Given the description of an element on the screen output the (x, y) to click on. 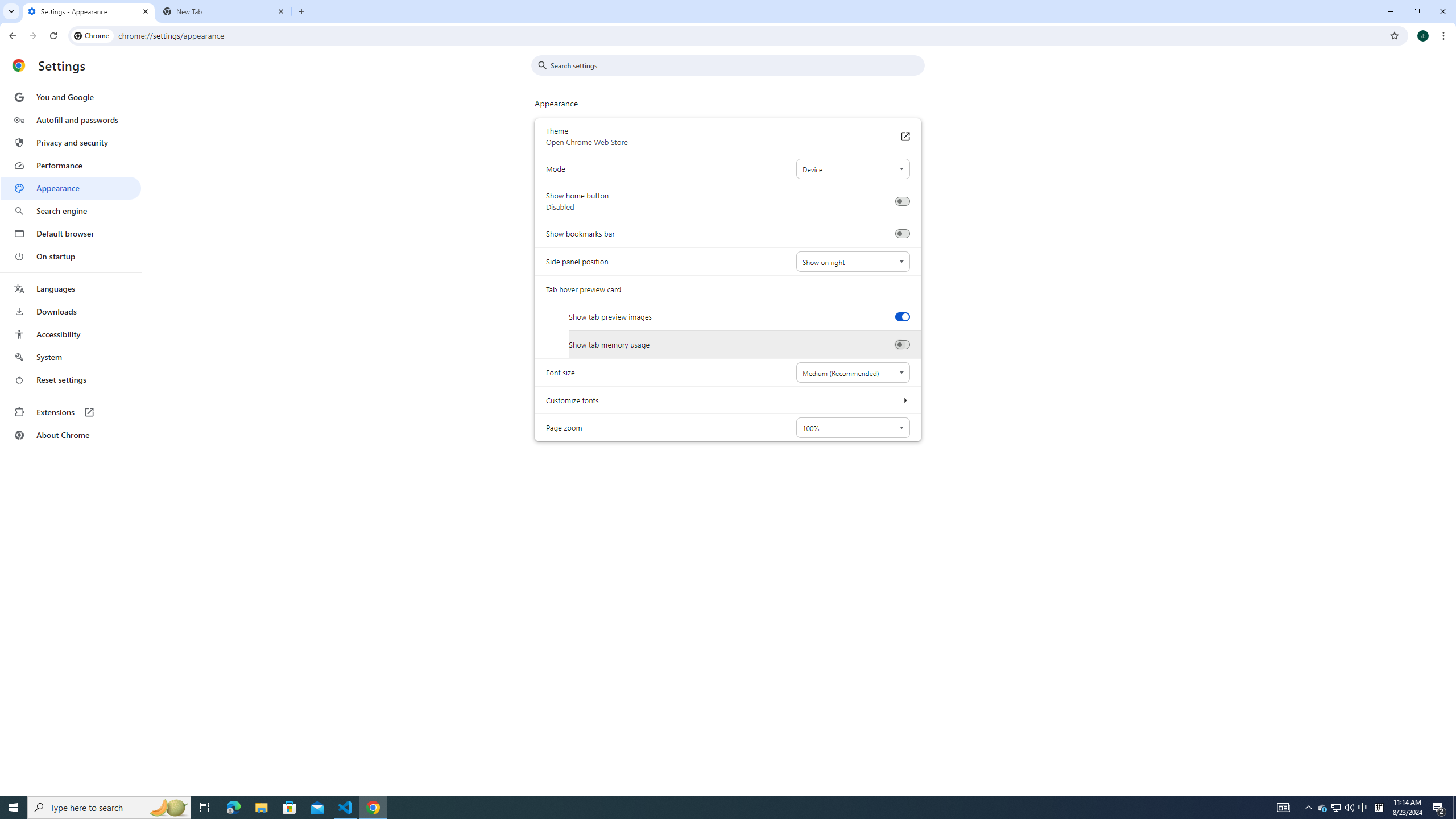
You and Google (70, 96)
Show tab memory usage (901, 344)
Performance (70, 164)
About Chrome (70, 434)
Privacy and security (70, 142)
Languages (70, 288)
Mode (852, 168)
Reset settings (70, 379)
Accessibility (70, 333)
